Given the description of an element on the screen output the (x, y) to click on. 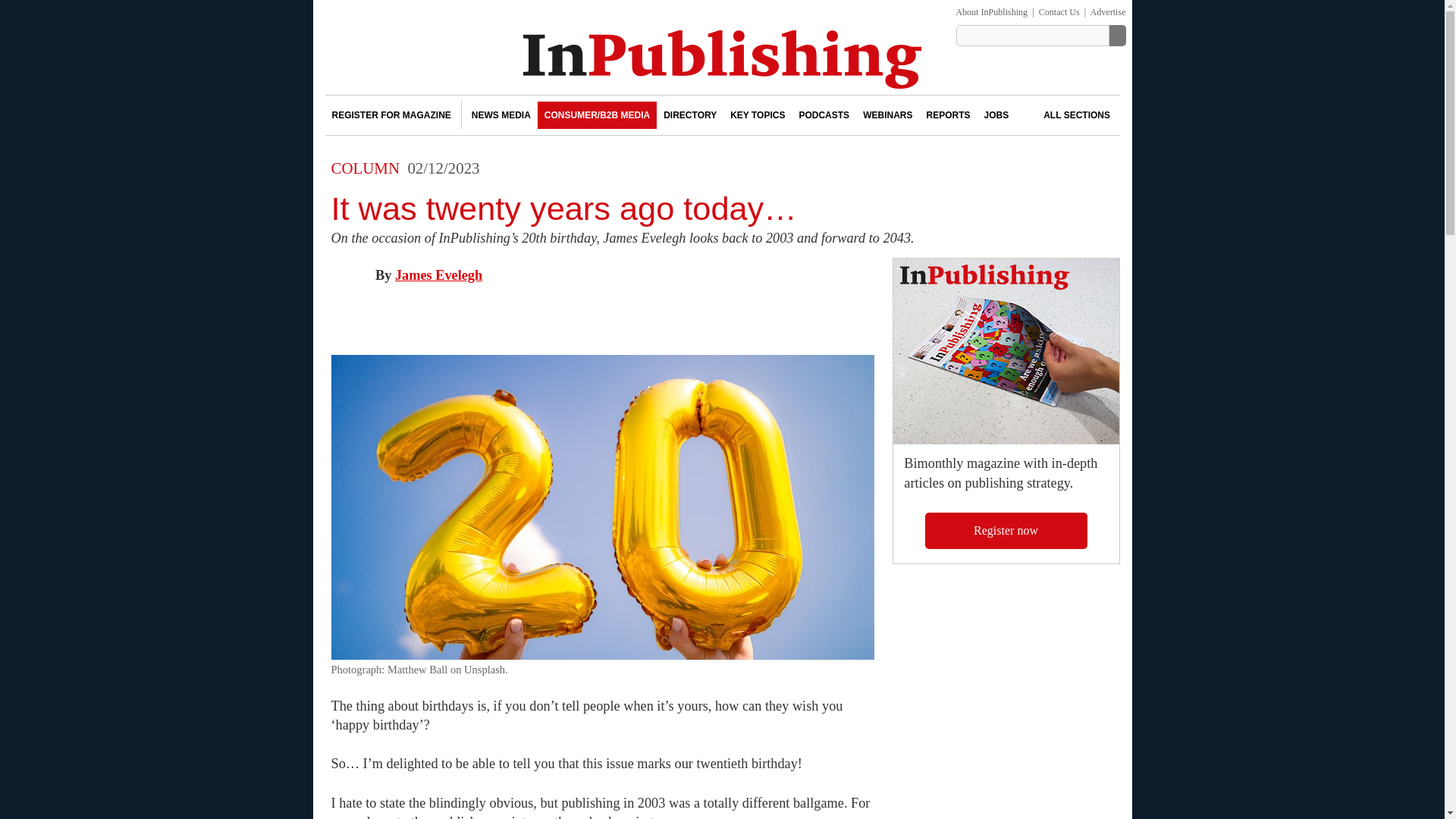
WEBINARS (887, 114)
James Evelegh (437, 274)
KEY TOPICS (757, 114)
NEWS MEDIA (500, 114)
DIRECTORY (689, 114)
REPORTS (947, 114)
Contact Us (1059, 11)
PODCASTS (824, 114)
JOBS (995, 114)
ALL SECTIONS (1065, 114)
